Given the description of an element on the screen output the (x, y) to click on. 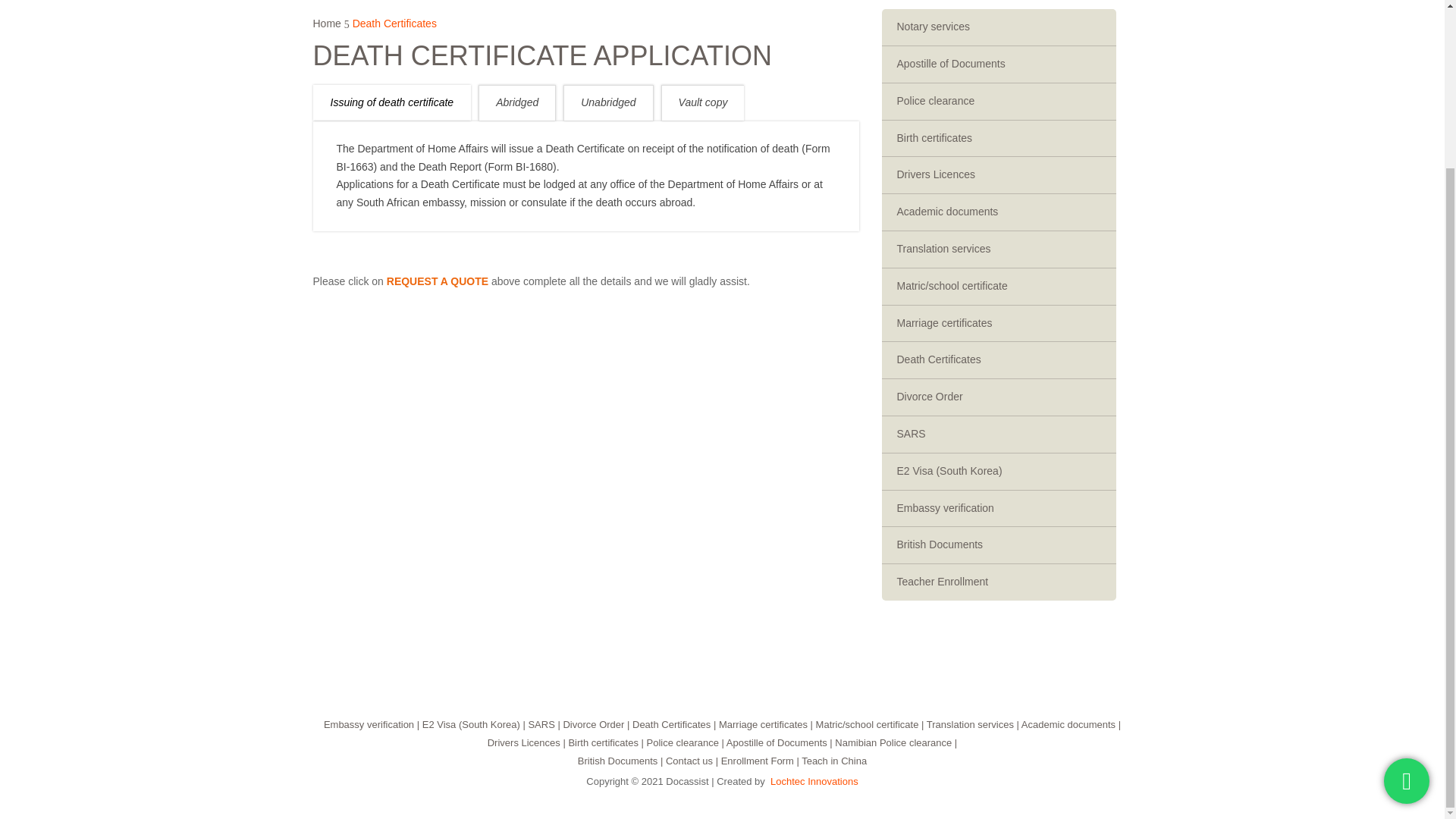
British Documents (618, 760)
Embassy verification (368, 724)
Issuing of death certificate (391, 102)
Marriage certificates (763, 724)
Birth certificates (602, 742)
Death Certificates (670, 724)
Home (326, 23)
Lochtec Innovations (814, 781)
SARS (540, 724)
Contact us (689, 760)
